Given the description of an element on the screen output the (x, y) to click on. 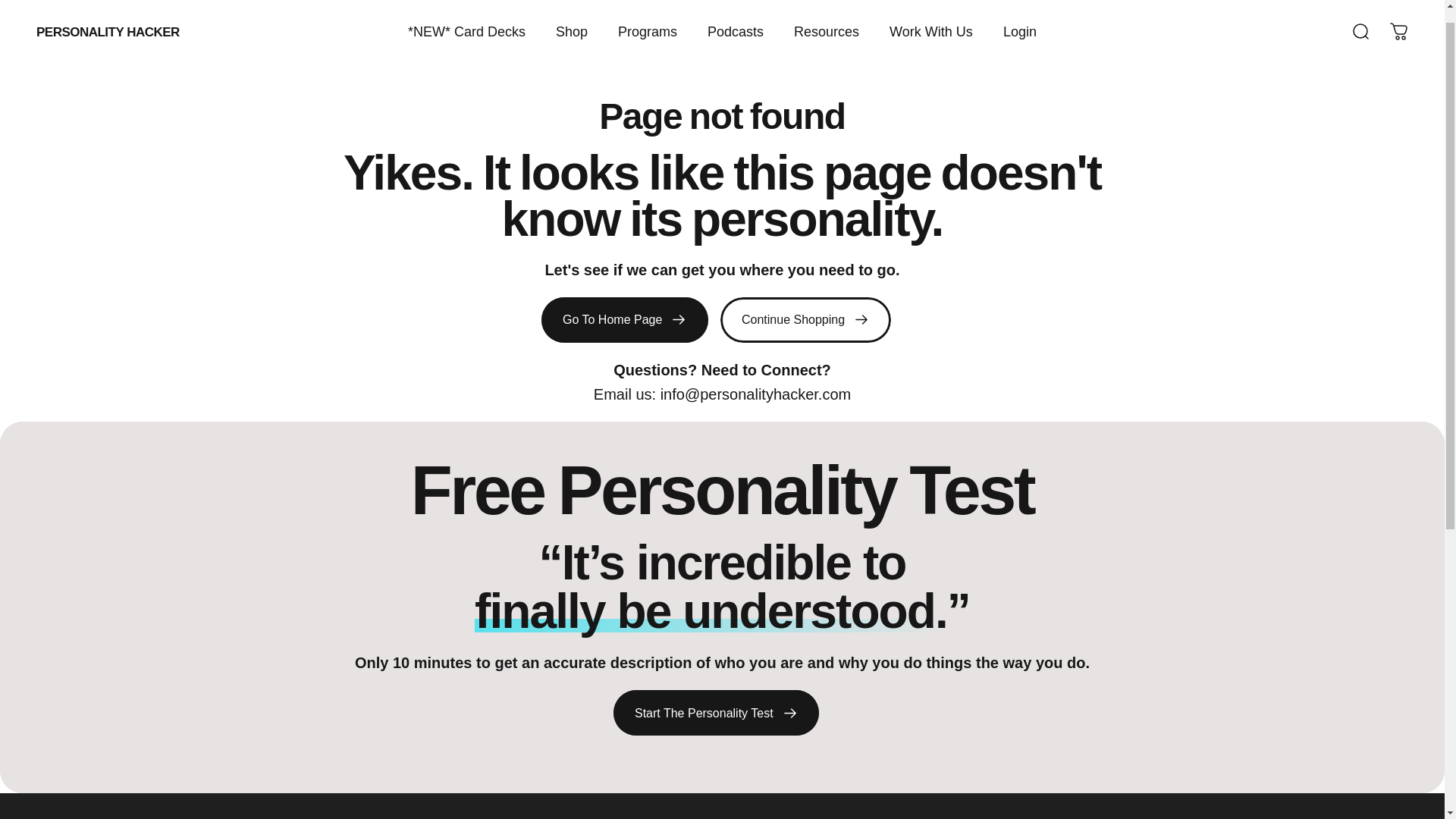
Continue Shopping (805, 320)
Search (1360, 14)
PERSONALITY HACKER (107, 12)
Start The Personality Test (715, 712)
Login (1019, 14)
Shop (571, 14)
Cart (1398, 14)
Go To Home Page (624, 320)
